Given the description of an element on the screen output the (x, y) to click on. 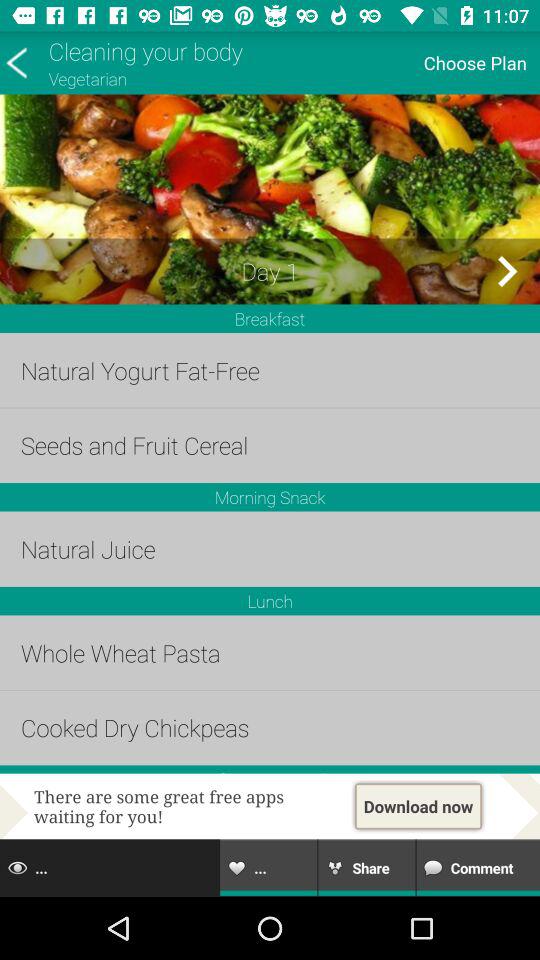
select day 2 (506, 271)
